Given the description of an element on the screen output the (x, y) to click on. 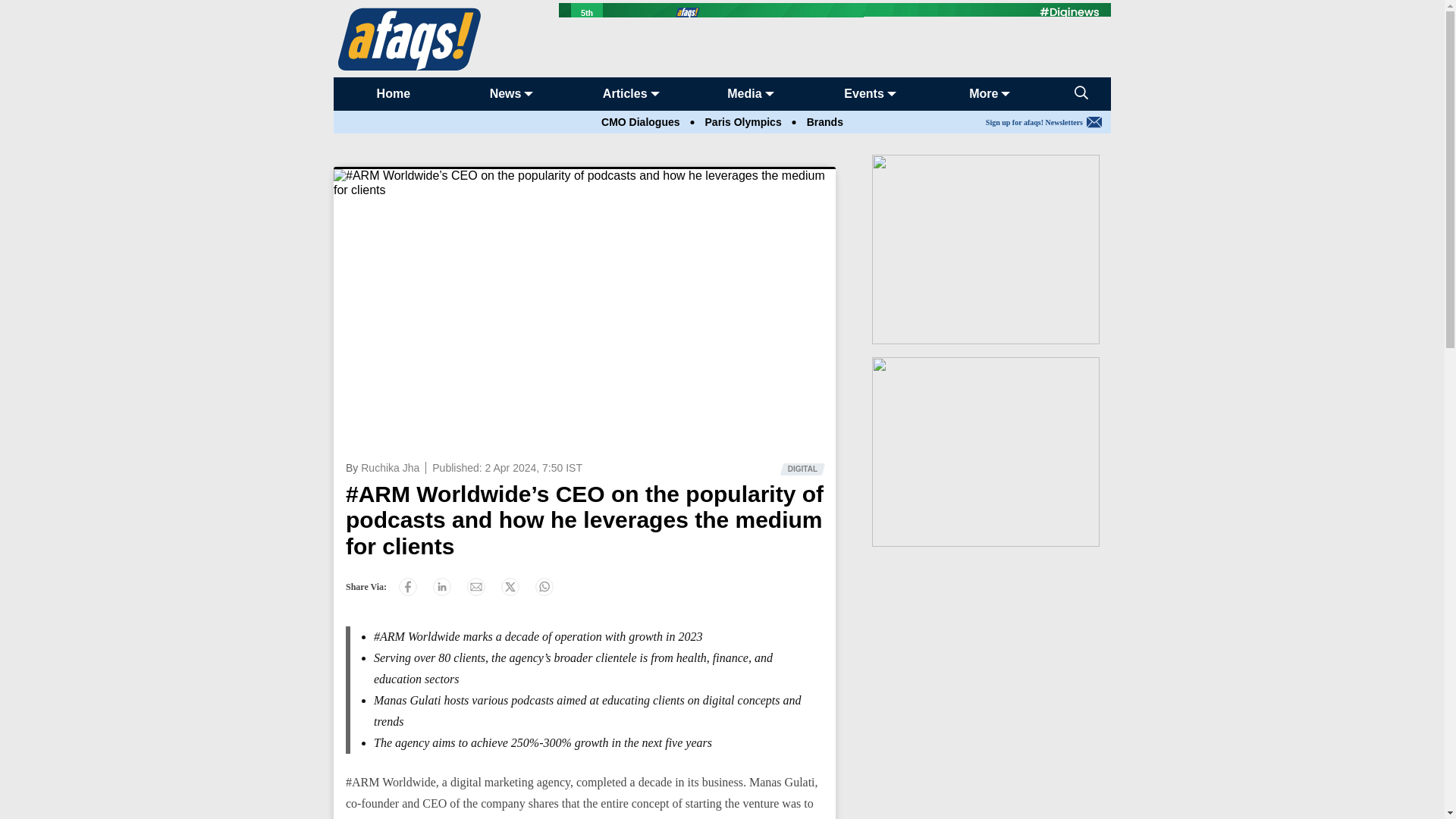
Home (393, 93)
News (505, 93)
Media (743, 93)
Articles (624, 93)
Events (863, 93)
